Given the description of an element on the screen output the (x, y) to click on. 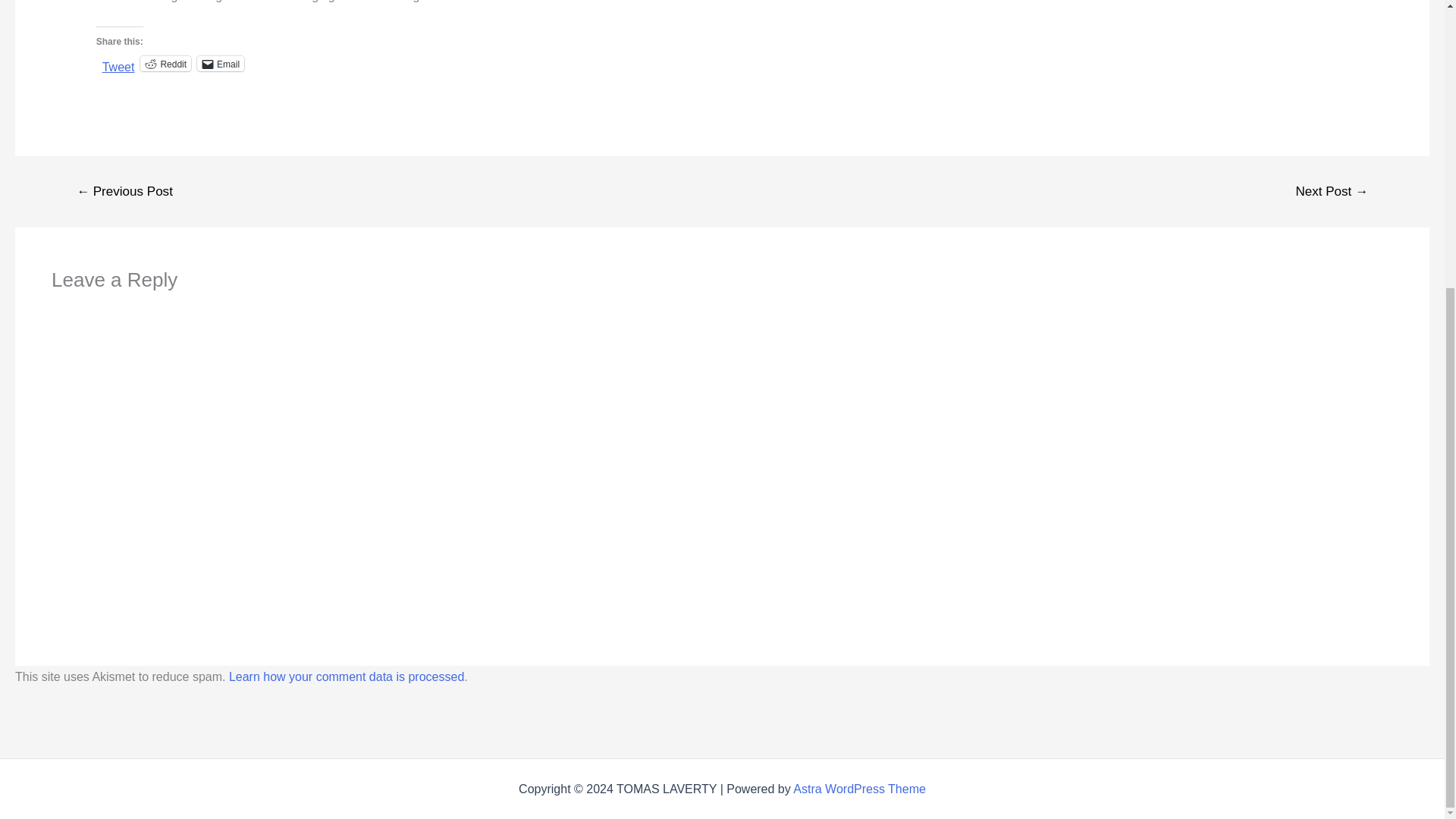
Click to email a link to a friend (220, 63)
Astra WordPress Theme (859, 788)
Learn how your comment data is processed (346, 676)
Reddit (164, 63)
Tweet (118, 62)
Click to share on Reddit (164, 63)
Email (220, 63)
